Given the description of an element on the screen output the (x, y) to click on. 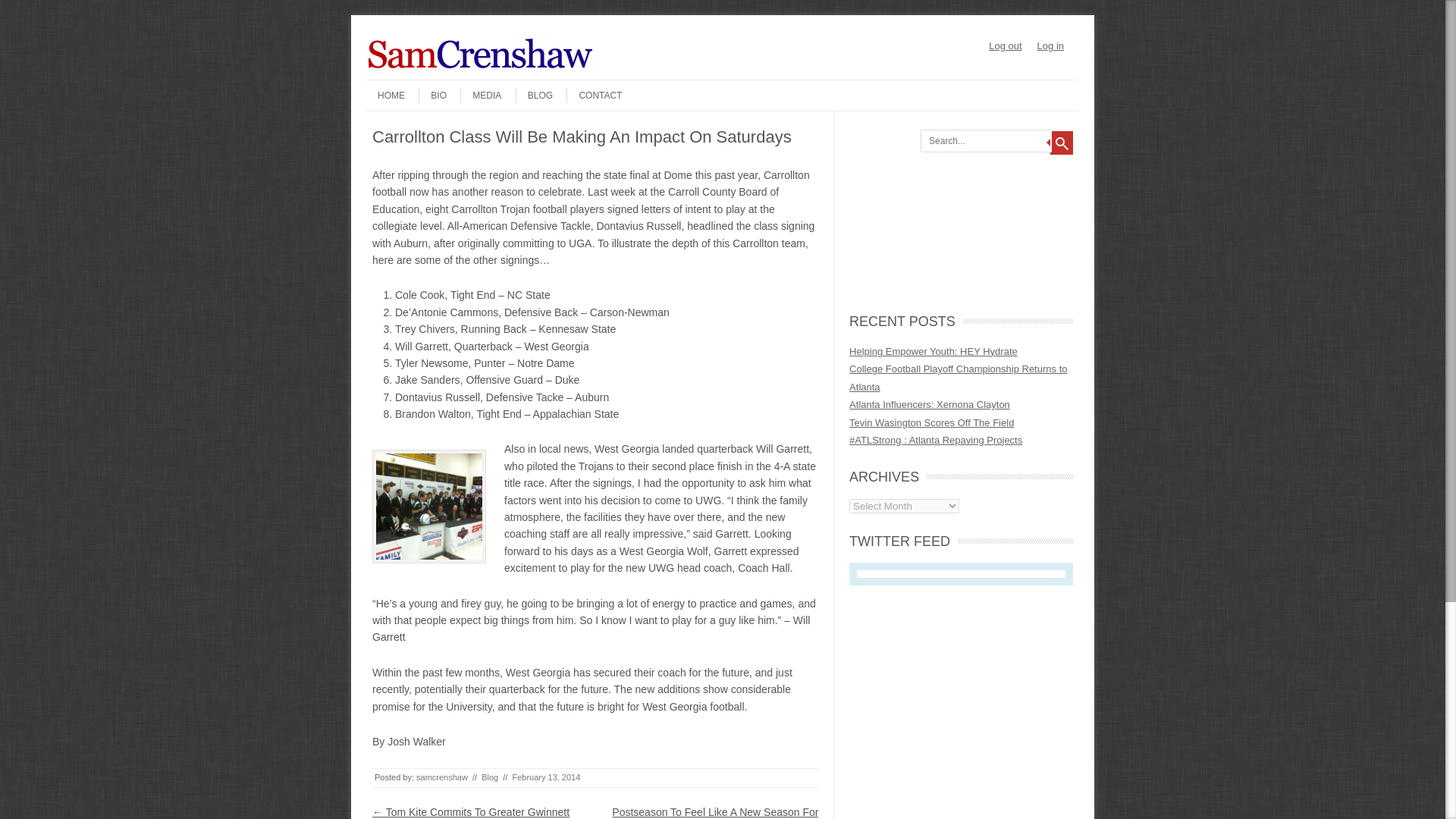
Skip to content (396, 84)
Atlanta Influencers: Xernona Clayton (929, 404)
February 13, 2014 (545, 777)
Log out (1005, 45)
MEDIA (480, 95)
Sam Crenshaw (480, 66)
Helping Empower Youth: HEY Hydrate (932, 351)
Blog (489, 777)
BIO (432, 95)
BLOG (534, 95)
View all posts by samcrenshaw (441, 777)
samcrenshaw (441, 777)
Search (1061, 142)
Skip to content (396, 84)
HOME (385, 95)
